Given the description of an element on the screen output the (x, y) to click on. 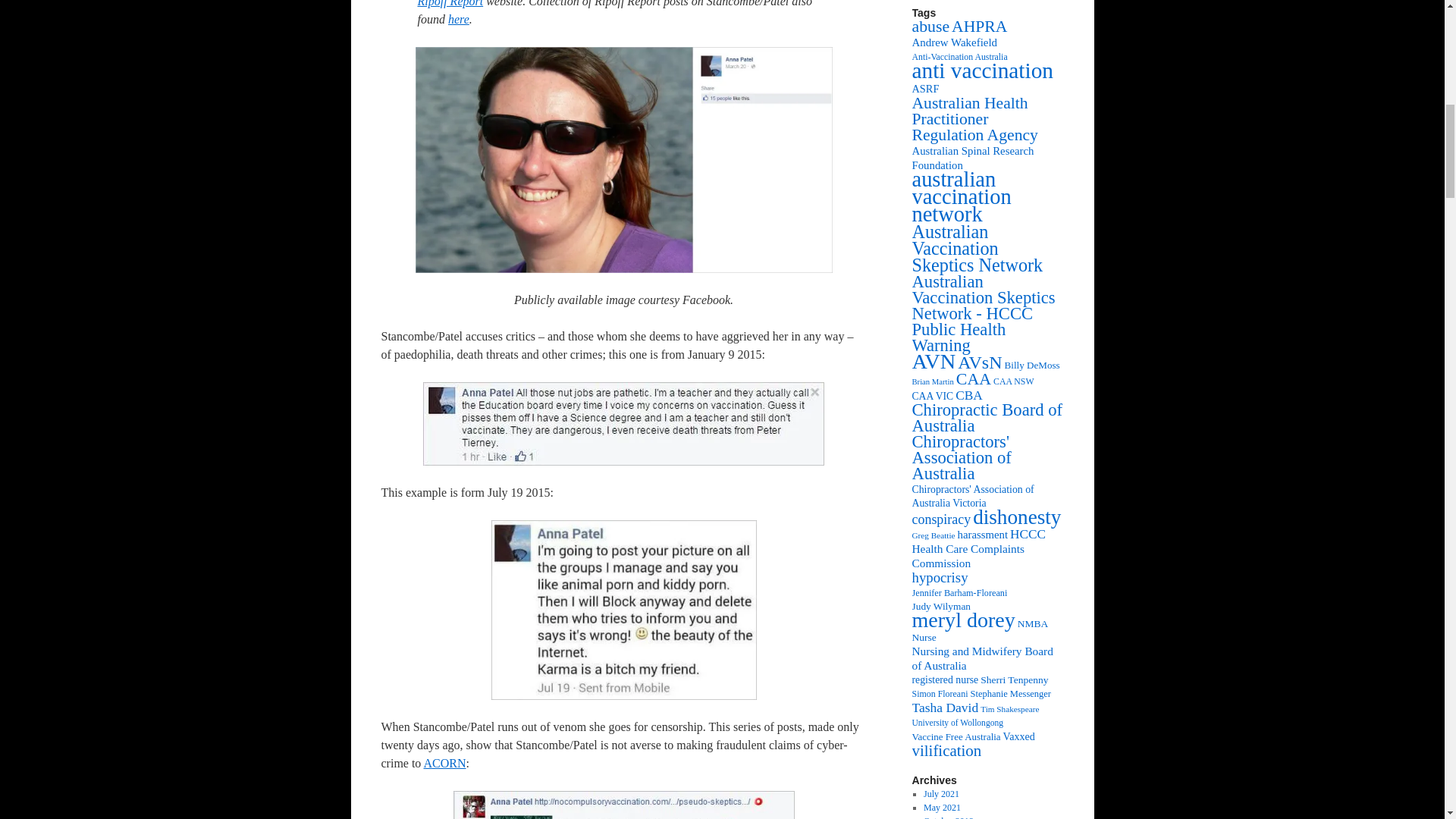
ACORN (444, 762)
here (458, 19)
